Given the description of an element on the screen output the (x, y) to click on. 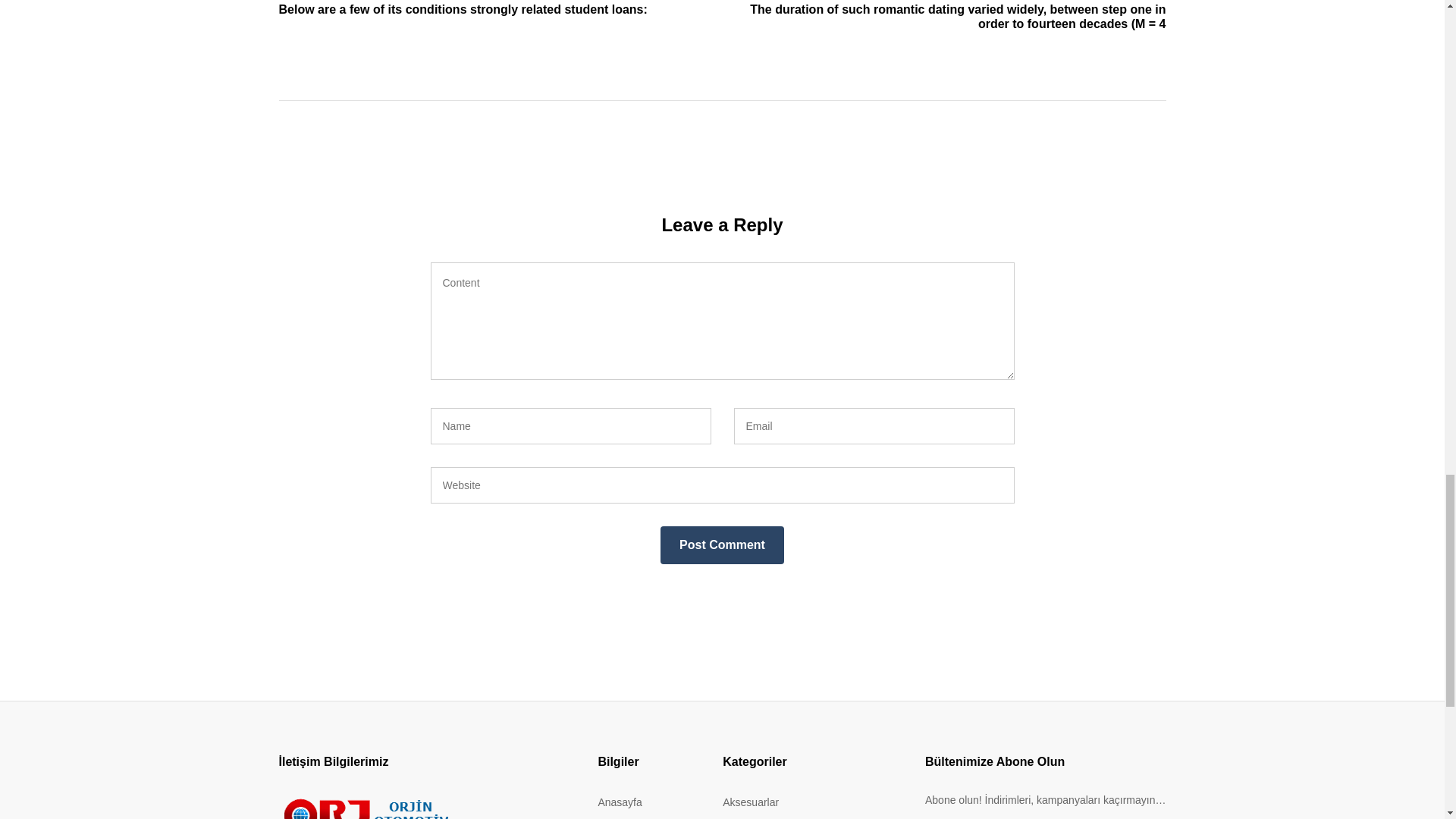
Post Comment (722, 545)
